Given the description of an element on the screen output the (x, y) to click on. 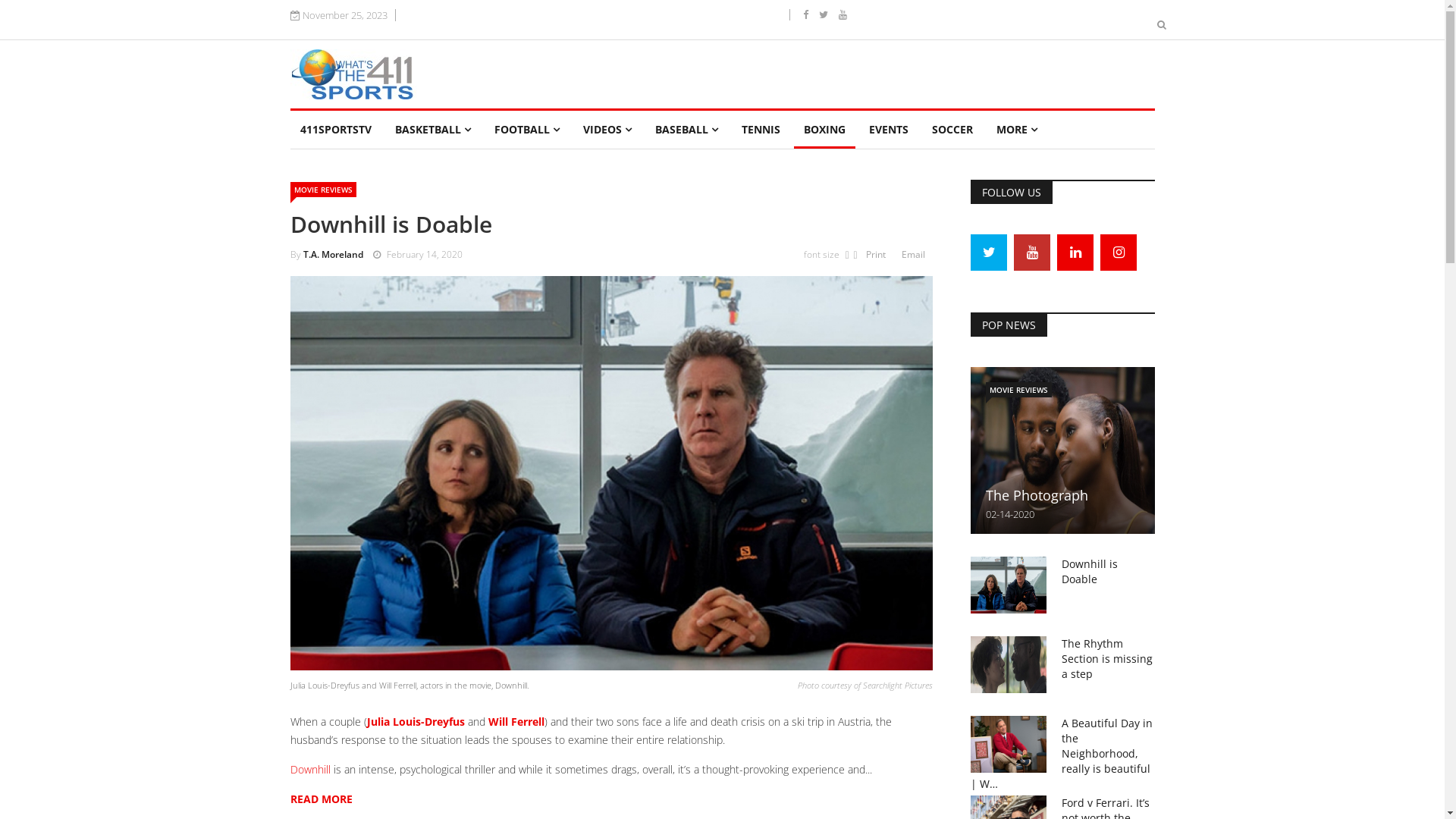
Twitter Element type: hover (988, 252)
MOVIE REVIEWS Element type: text (323, 189)
MORE Element type: text (1015, 129)
T.A. Moreland Element type: text (333, 253)
READ MORE Element type: text (320, 798)
MOVIE REVIEWS Element type: text (1018, 389)
EVENTS Element type: text (887, 129)
Print Element type: text (880, 253)
Instagram Element type: hover (1118, 252)
TENNIS Element type: text (760, 129)
BOXING Element type: text (823, 129)
The Rhythm Section is missing a step Element type: text (1106, 658)
Email Element type: text (916, 253)
Downhill is Doable Element type: text (1089, 571)
Click to preview image Element type: hover (610, 473)
Will Ferrell Element type: text (516, 721)
Downhill Element type: text (309, 769)
FOOTBALL Element type: text (525, 129)
YouTube Element type: hover (1031, 252)
BASEBALL Element type: text (685, 129)
The Photograph Element type: text (1036, 495)
411SPORTSTV Element type: text (334, 129)
BASKETBALL Element type: text (432, 129)
SOCCER Element type: text (952, 129)
Linkedin Element type: hover (1075, 252)
Julia Louis-Dreyfus Element type: text (415, 721)
VIDEOS Element type: text (607, 129)
